Given the description of an element on the screen output the (x, y) to click on. 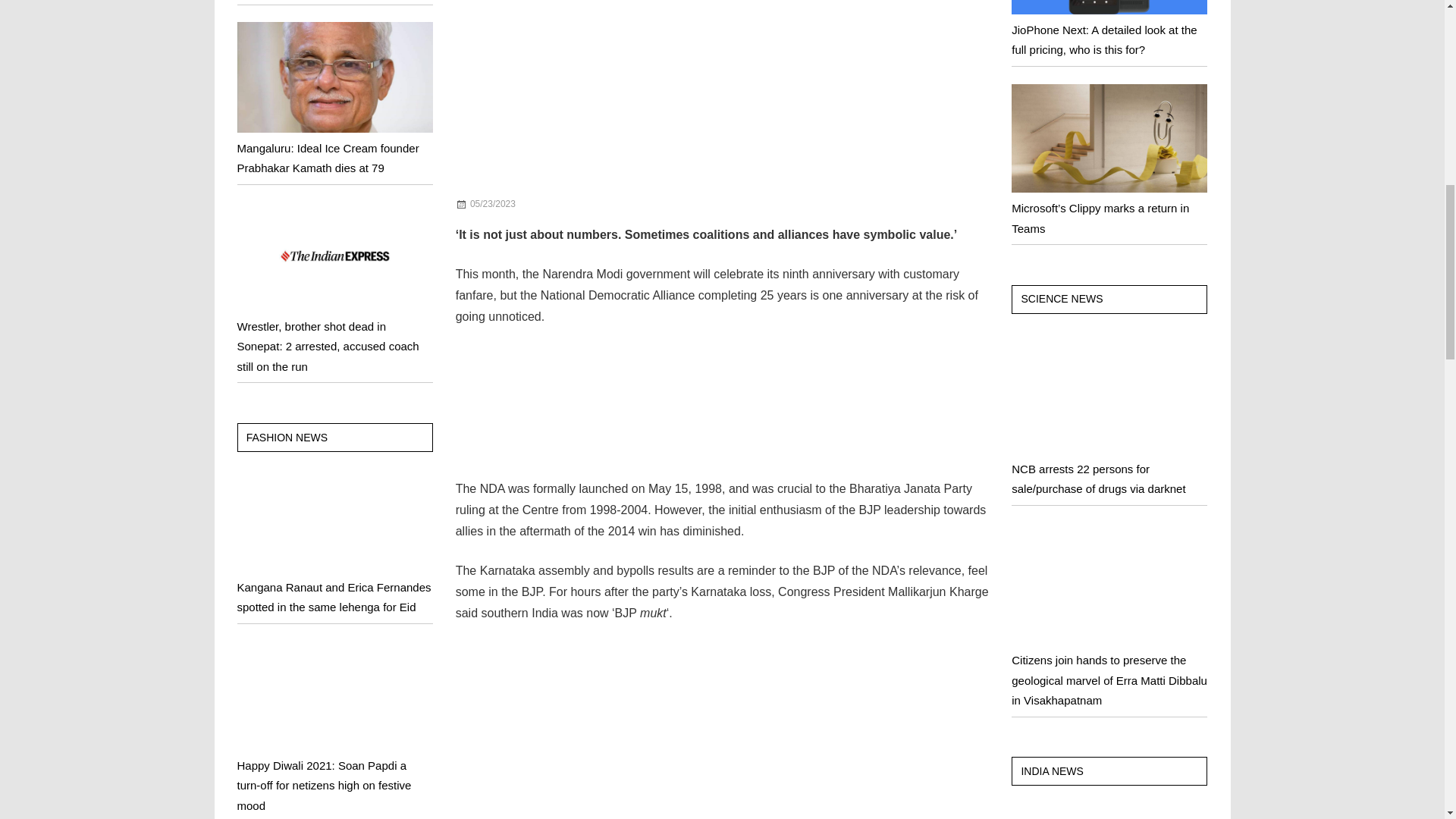
03:34 (492, 204)
india (550, 204)
Scott (551, 204)
